Given the description of an element on the screen output the (x, y) to click on. 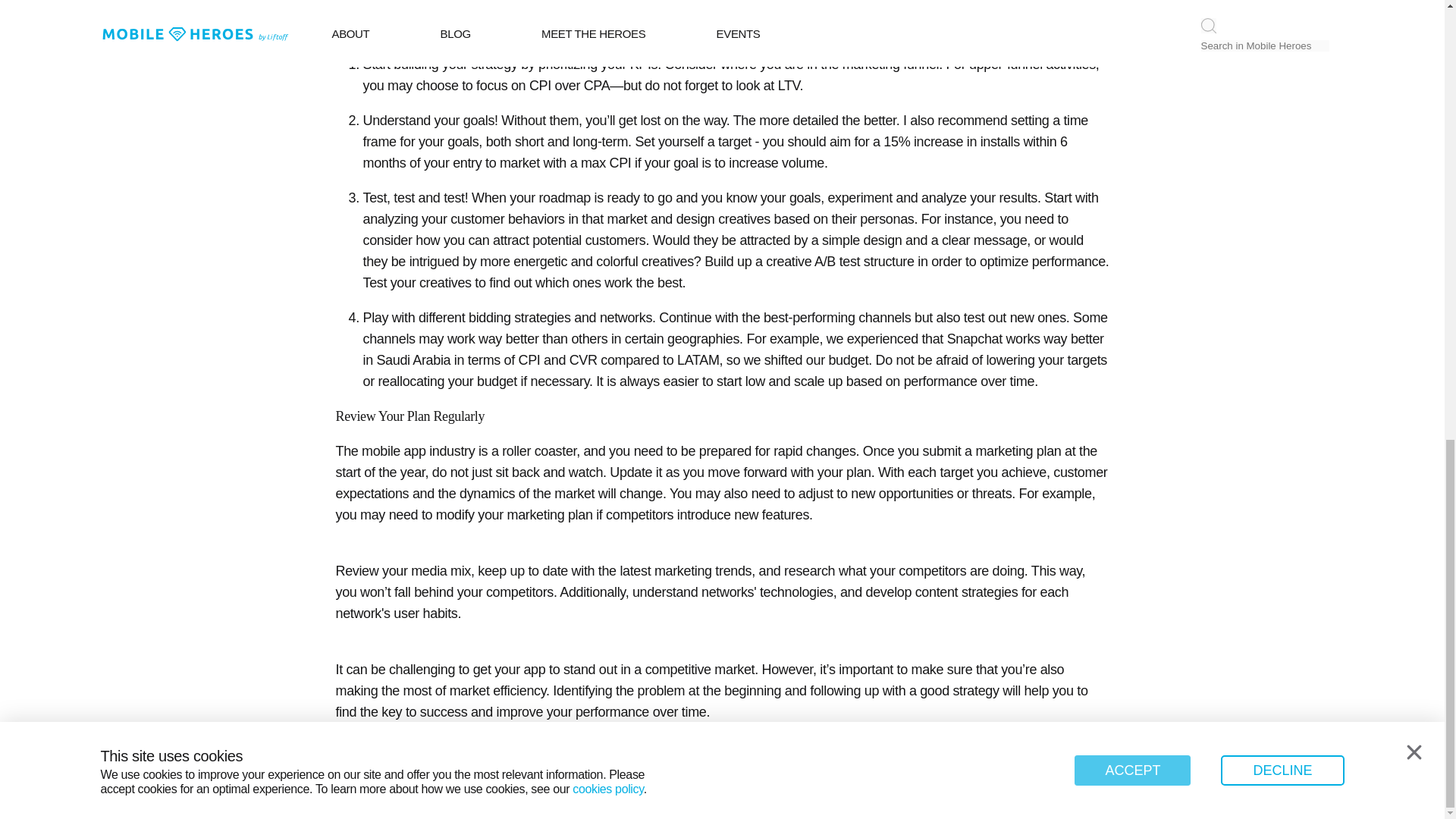
Blog home (734, 773)
Previous Post (603, 773)
Next Post (851, 773)
